Given the description of an element on the screen output the (x, y) to click on. 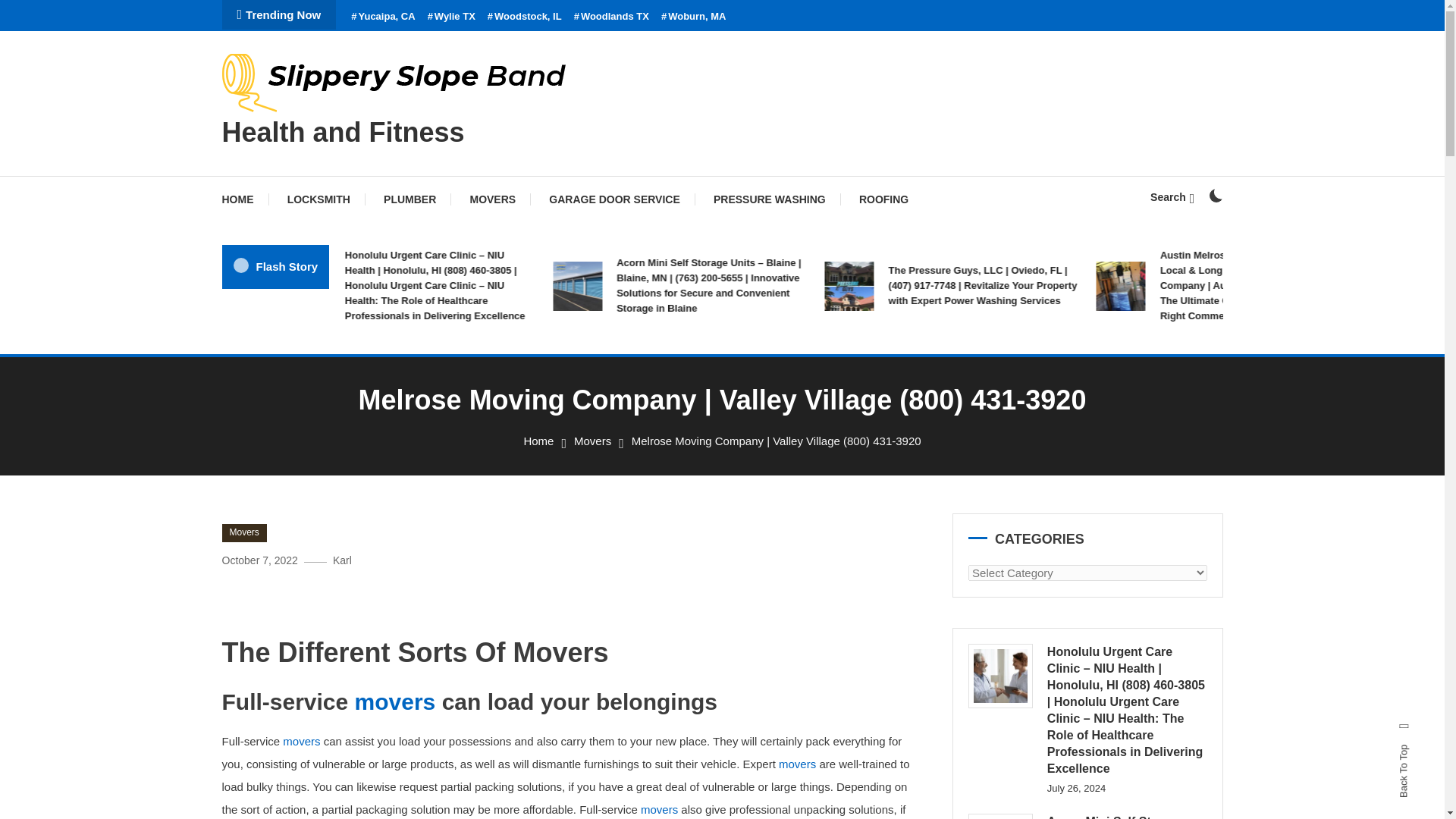
Wylie TX (452, 16)
Home (537, 440)
Woodstock, IL (524, 16)
HOME (244, 198)
Movers (592, 440)
Woodlands TX (611, 16)
LOCKSMITH (318, 198)
Movers (243, 533)
GARAGE DOOR SERVICE (614, 198)
PLUMBER (409, 198)
Search (1171, 196)
ROOFING (883, 198)
PRESSURE WASHING (769, 198)
Search (768, 434)
on (1215, 195)
